Given the description of an element on the screen output the (x, y) to click on. 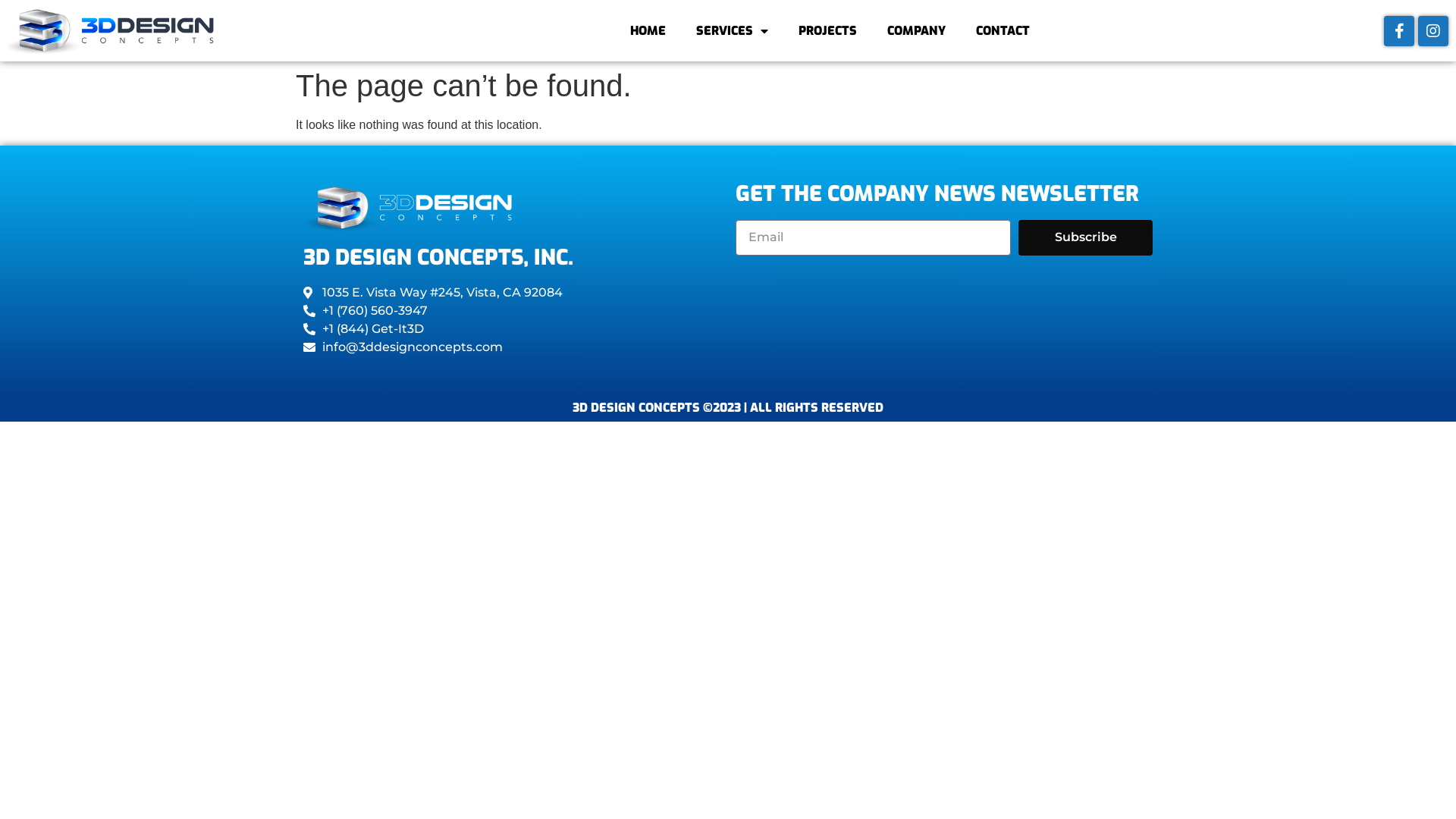
+1 (760) 560-3947 Element type: text (511, 310)
Subscribe Element type: text (1085, 237)
SERVICES Element type: text (731, 30)
info@3ddesignconcepts.com Element type: text (511, 347)
+1 (844) Get-It3D Element type: text (511, 329)
PROJECTS Element type: text (827, 30)
CONTACT Element type: text (1002, 30)
COMPANY Element type: text (916, 30)
HOME Element type: text (647, 30)
